Given the description of an element on the screen output the (x, y) to click on. 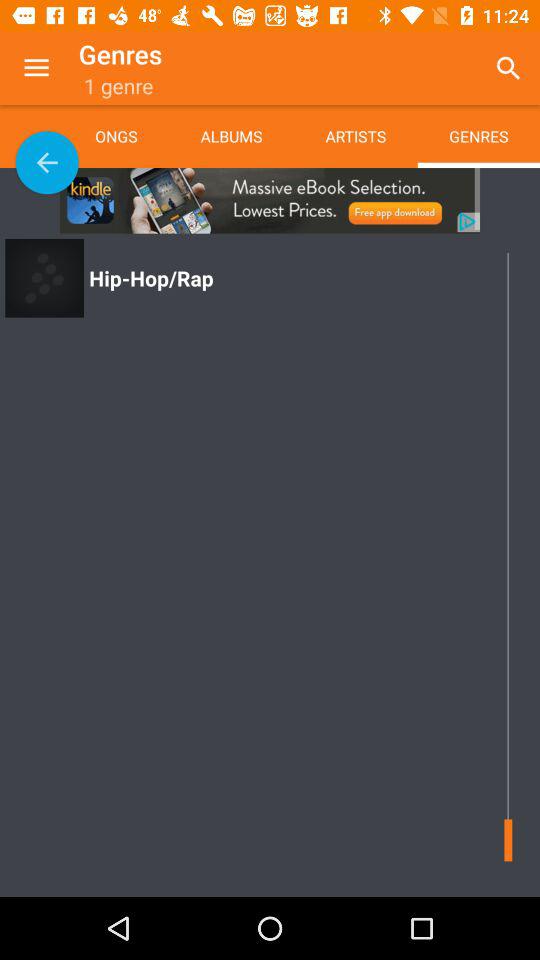
turn off item to the right of albums icon (355, 136)
